Given the description of an element on the screen output the (x, y) to click on. 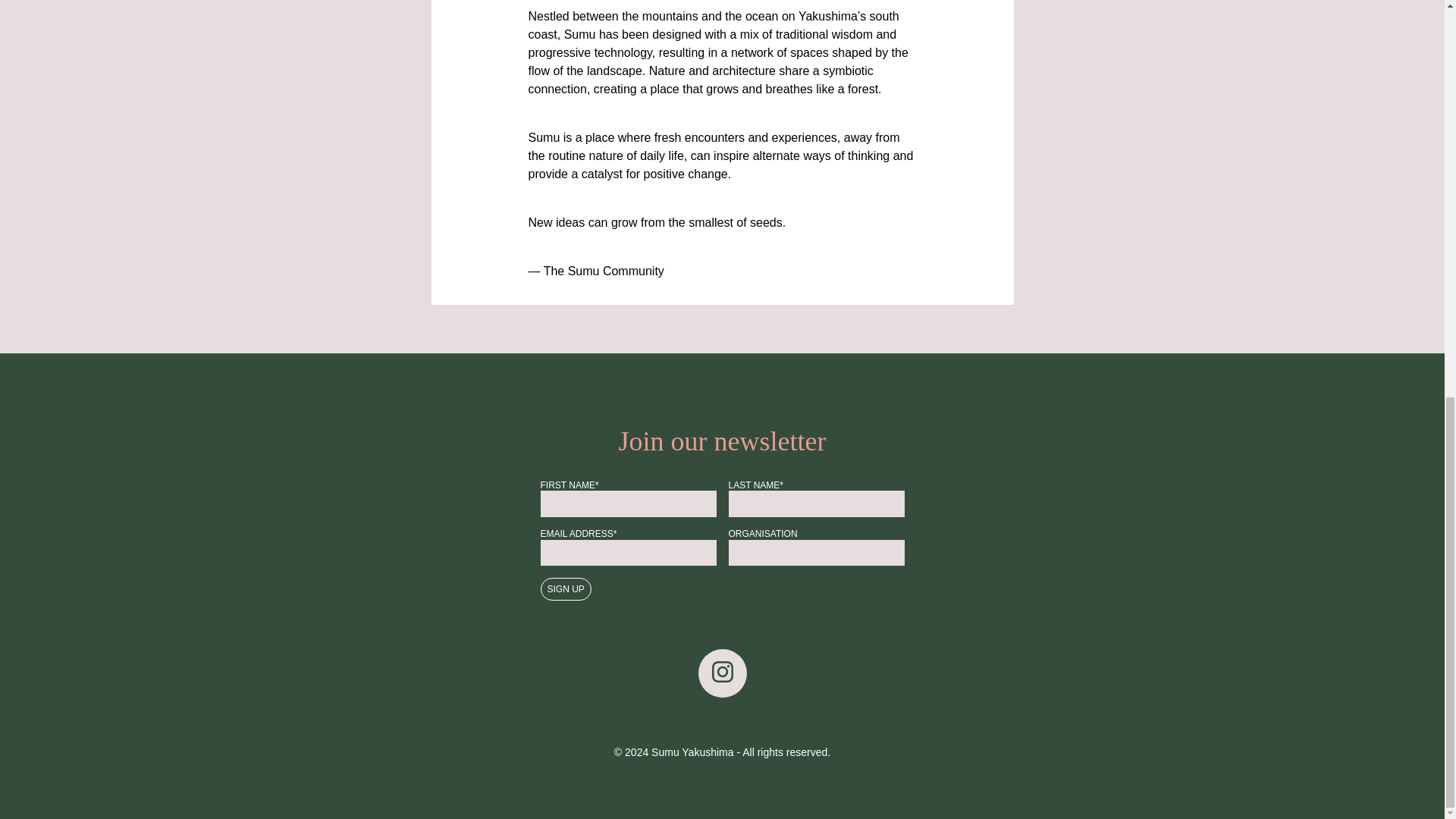
Sign up (565, 589)
Sign up (565, 589)
